Given the description of an element on the screen output the (x, y) to click on. 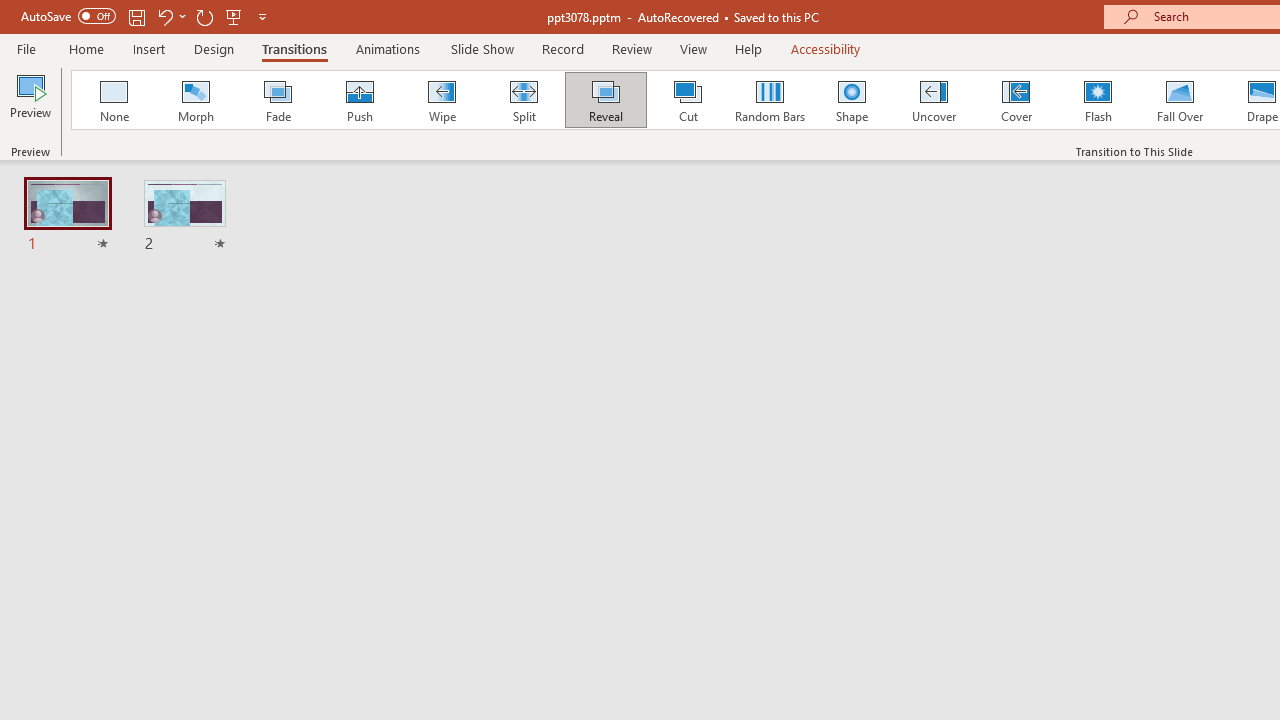
Split (523, 100)
None (113, 100)
Random Bars (770, 100)
Cover (1016, 100)
Fade (277, 100)
Push (359, 100)
